Given the description of an element on the screen output the (x, y) to click on. 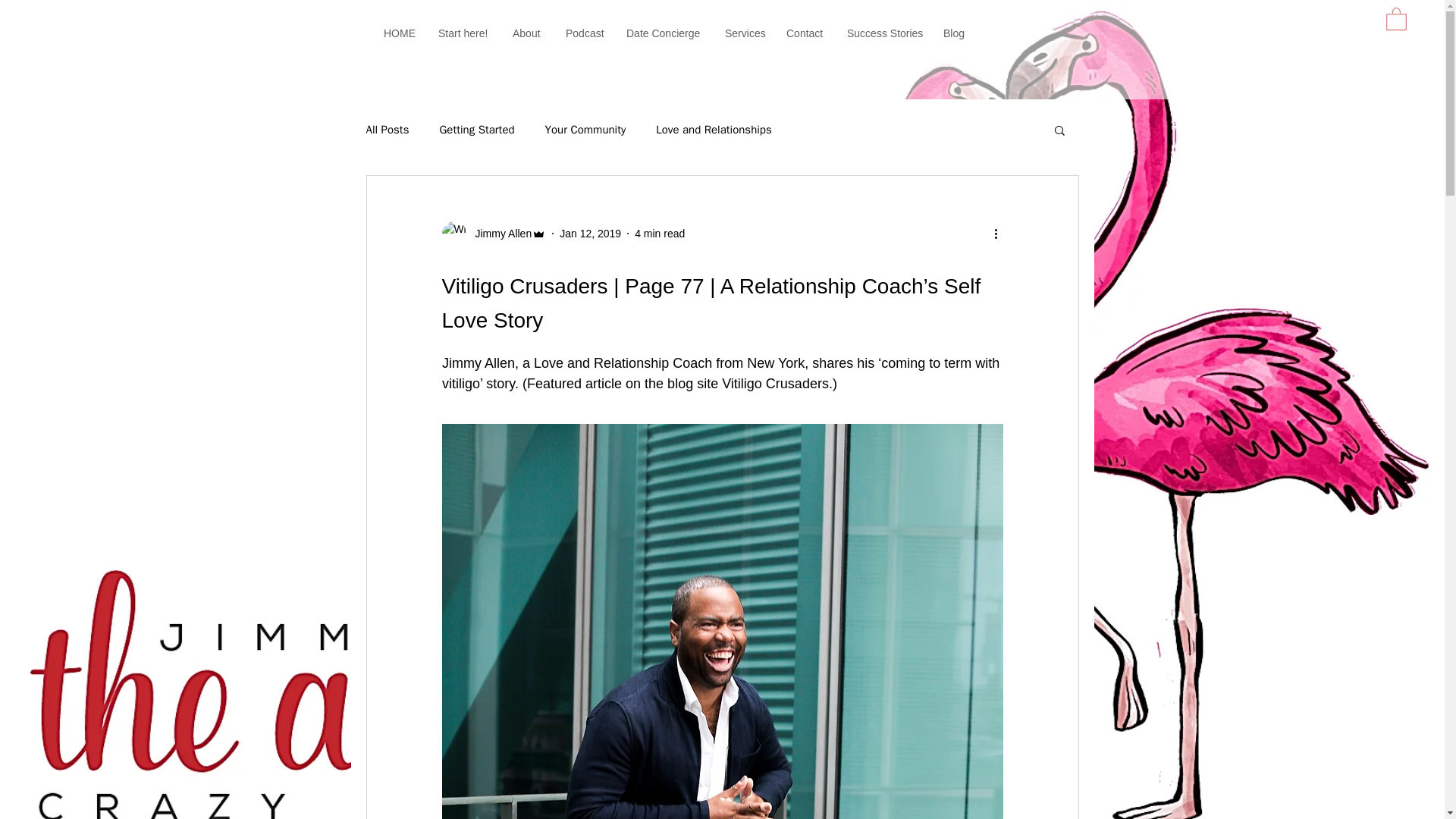
Services (743, 33)
HOME (399, 33)
Jan 12, 2019 (590, 233)
4 min read (659, 233)
All Posts (387, 129)
Blog (953, 33)
Your Community (585, 129)
Success Stories (883, 33)
Love and Relationships (713, 129)
Start here! (463, 33)
